Given the description of an element on the screen output the (x, y) to click on. 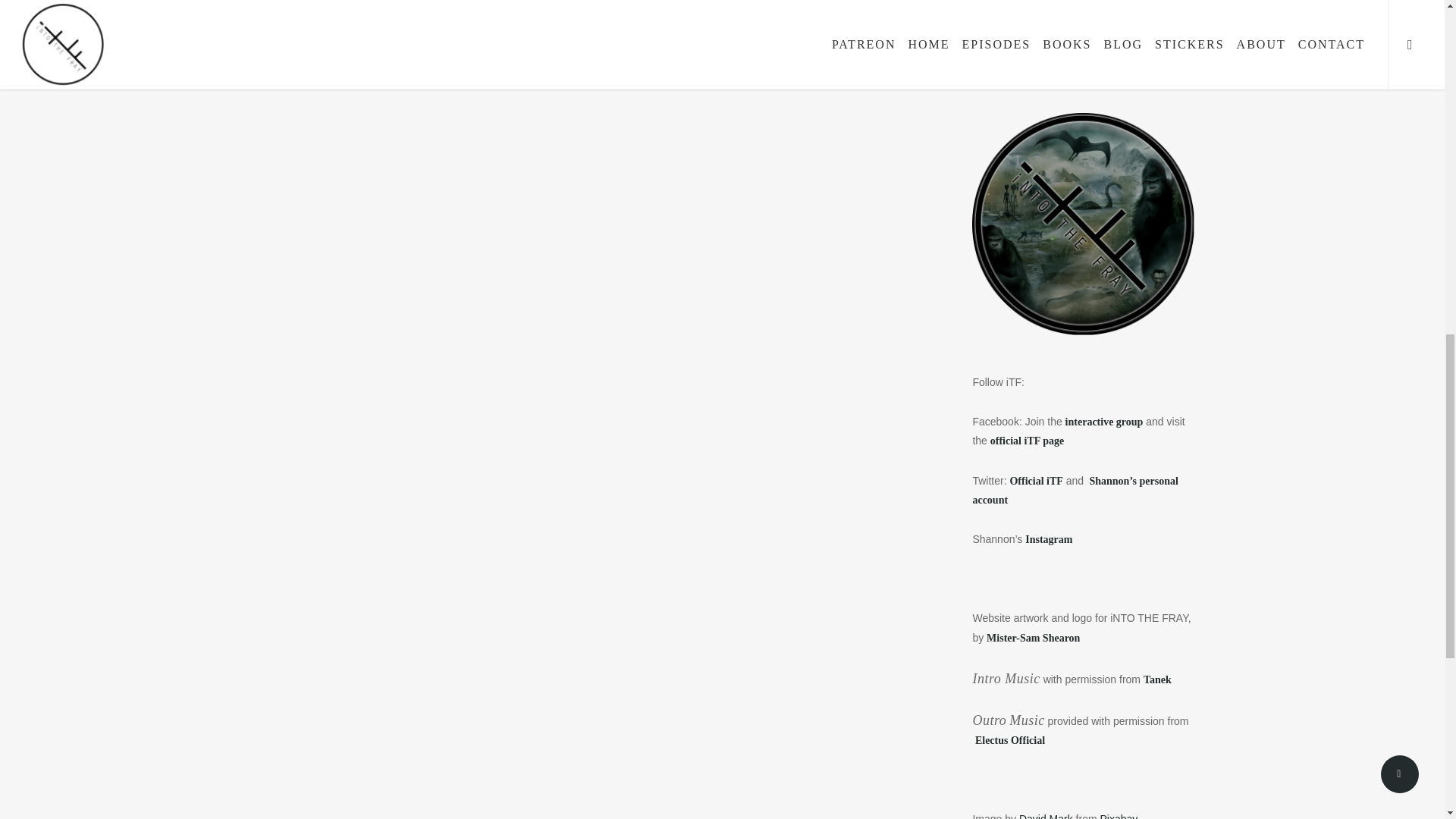
 Electus Official (1008, 739)
Official iTF (1035, 480)
HERE (1105, 24)
Instagram (1048, 539)
interactive group (1103, 421)
Mister-Sam Shearon (1033, 636)
Tanek (1157, 679)
official iTF page  (1028, 440)
HERE (1115, 82)
David Mark (1046, 816)
